Given the description of an element on the screen output the (x, y) to click on. 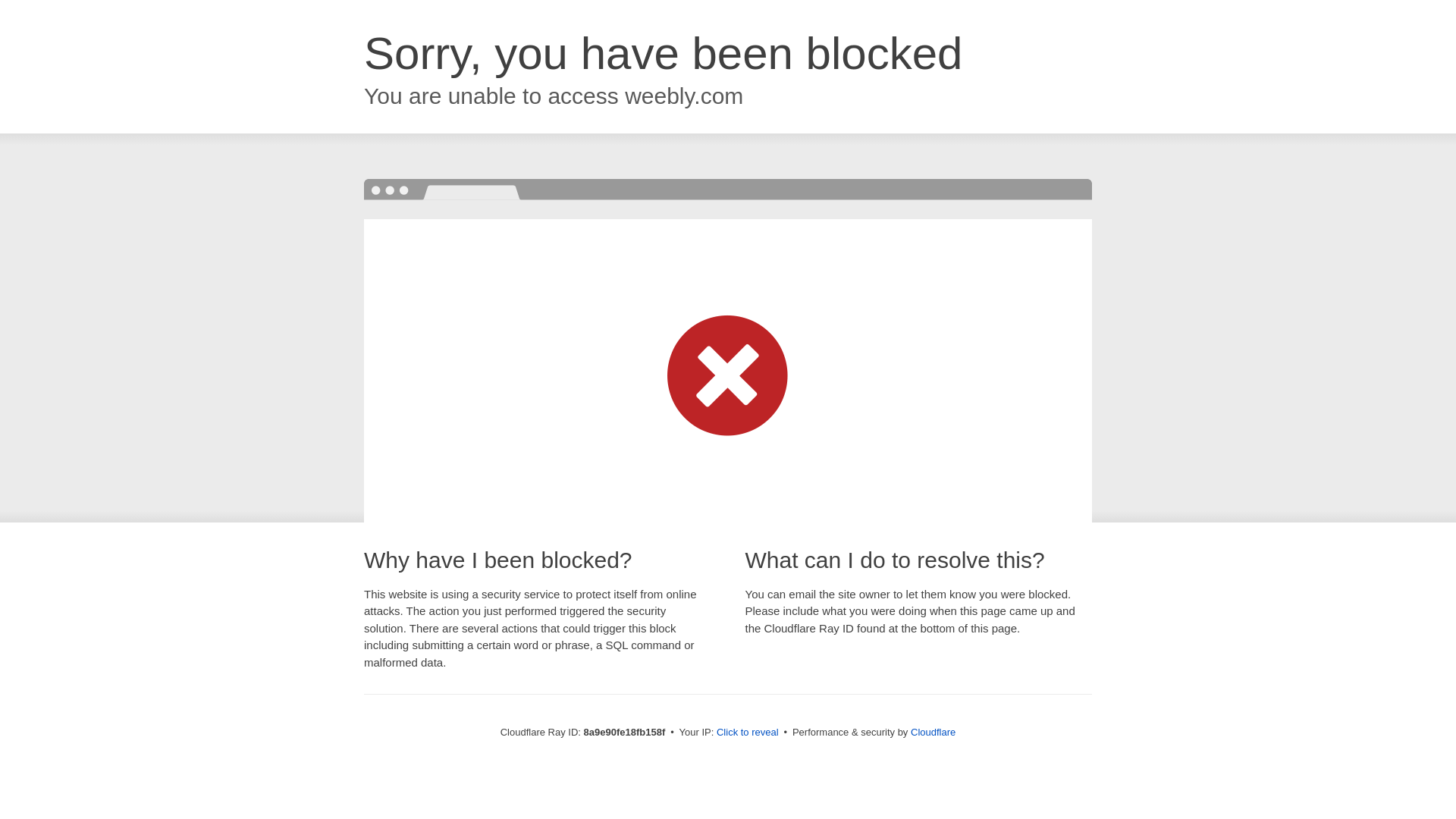
Click to reveal (747, 732)
Cloudflare (933, 731)
